Given the description of an element on the screen output the (x, y) to click on. 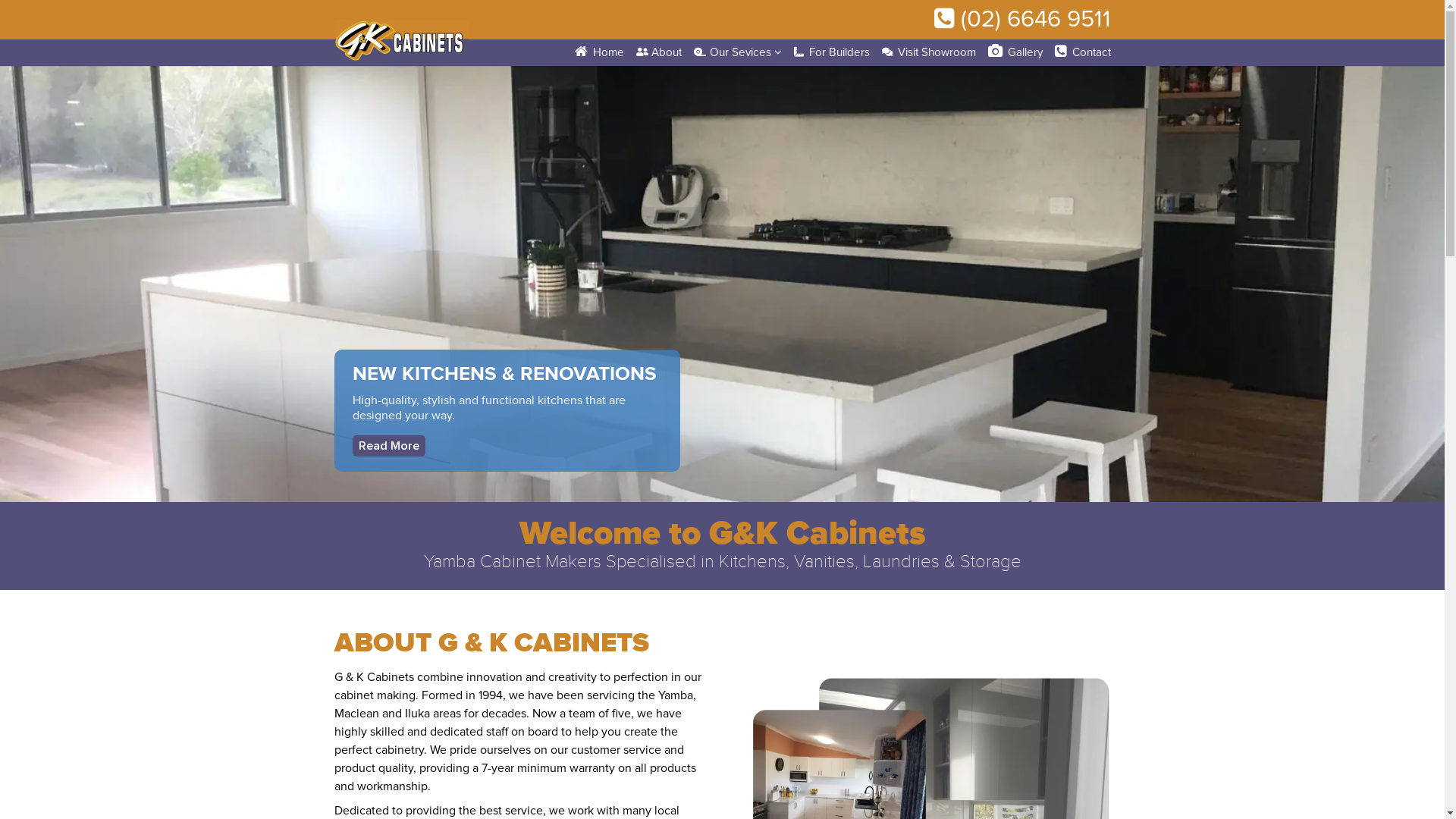
About Element type: text (659, 53)
Visit Showroom Element type: text (928, 53)
Home Element type: text (598, 53)
(02) 6646 9511 Element type: text (1022, 19)
Read More Element type: text (387, 445)
Our Sevices Element type: text (737, 52)
Gallery Element type: text (1015, 53)
For Builders Element type: text (831, 53)
Skip to content Element type: text (0, 63)
Contact Element type: text (1082, 53)
